Given the description of an element on the screen output the (x, y) to click on. 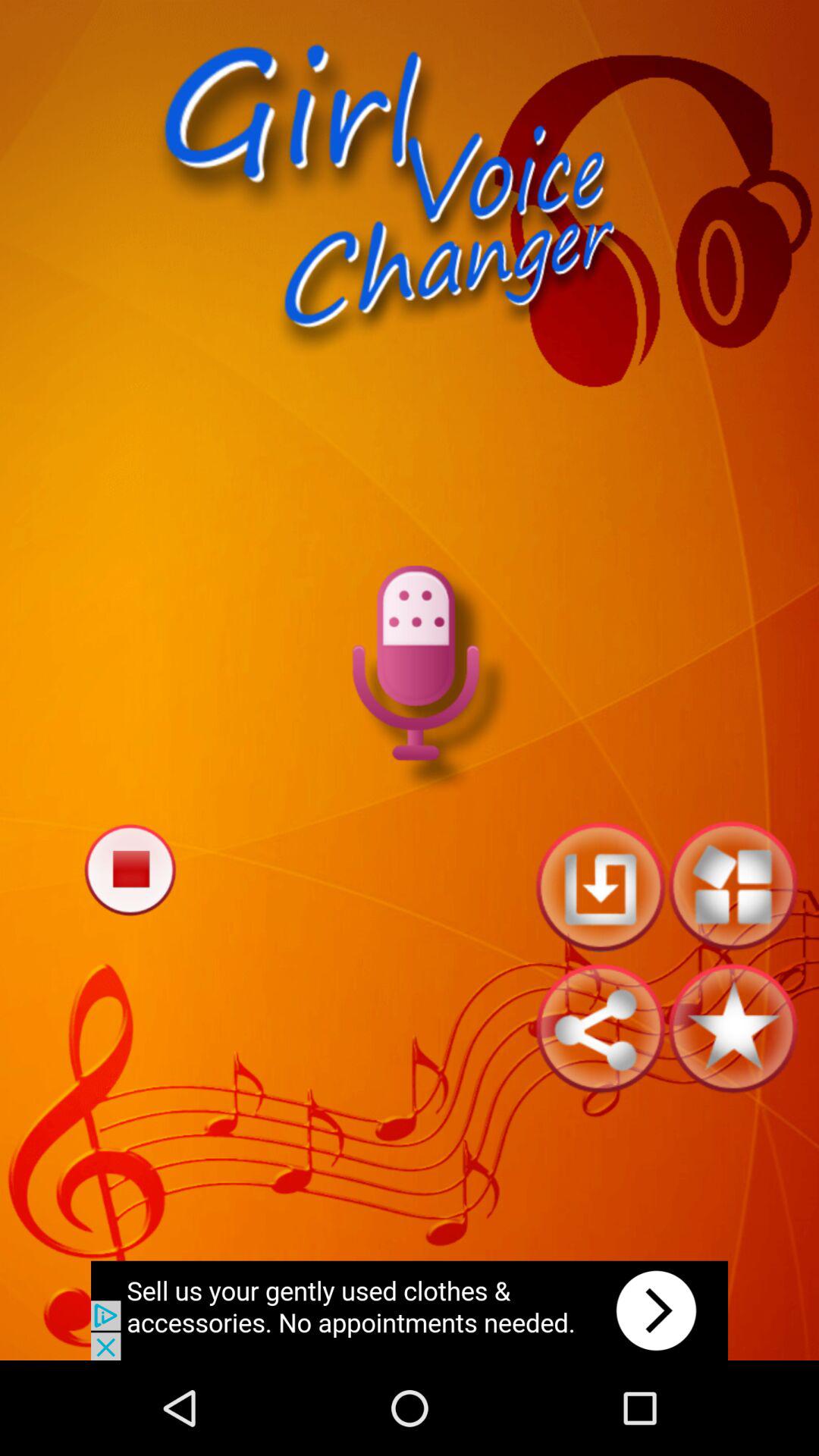
share app (600, 1028)
